Given the description of an element on the screen output the (x, y) to click on. 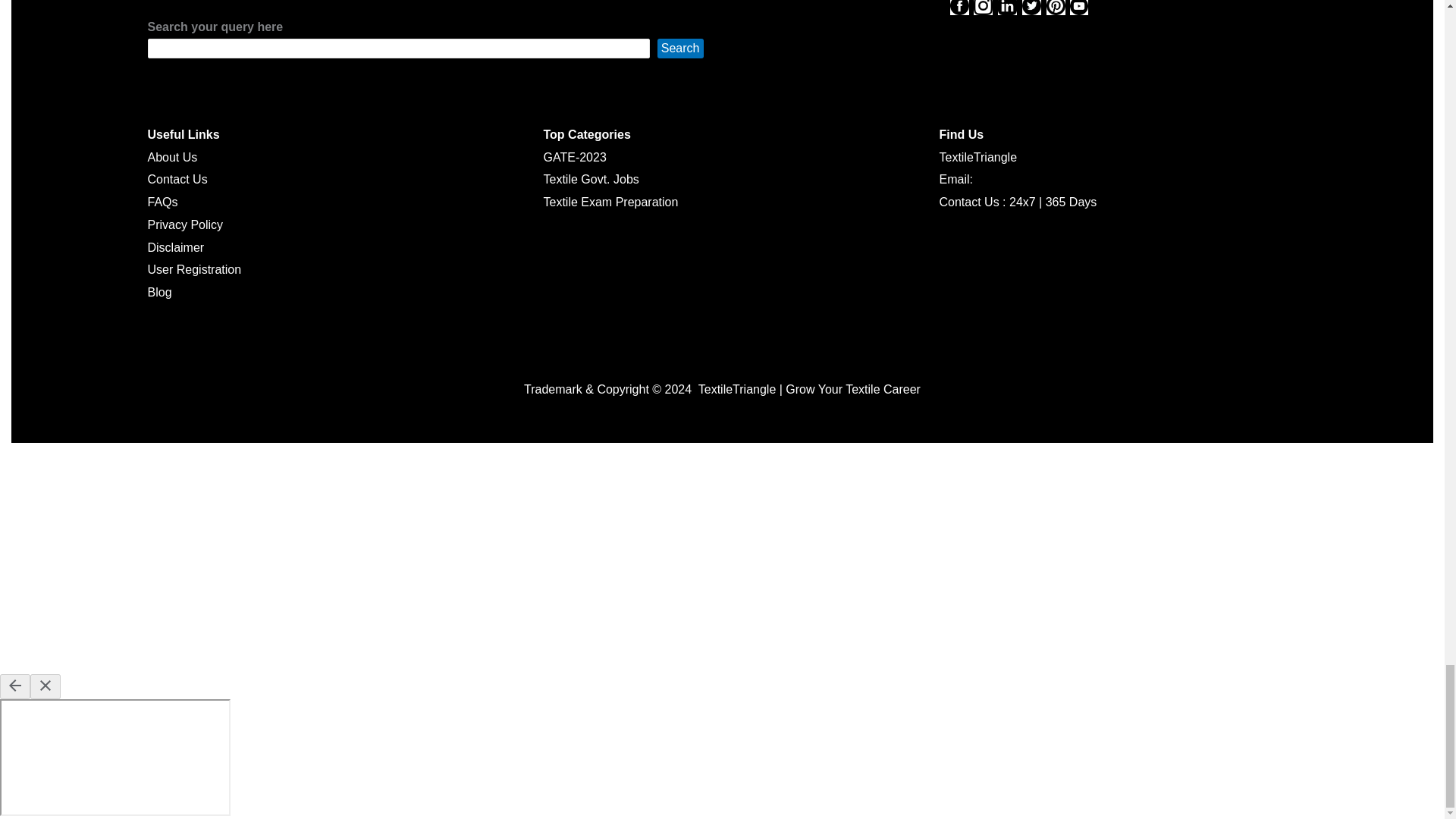
Search (680, 48)
About Us (171, 156)
FAQs (162, 201)
Textile Govt. Jobs (591, 178)
GATE-2023 (574, 156)
Disclaimer (175, 246)
Contact Us (176, 178)
Privacy Policy (184, 224)
Blog (159, 291)
